Given the description of an element on the screen output the (x, y) to click on. 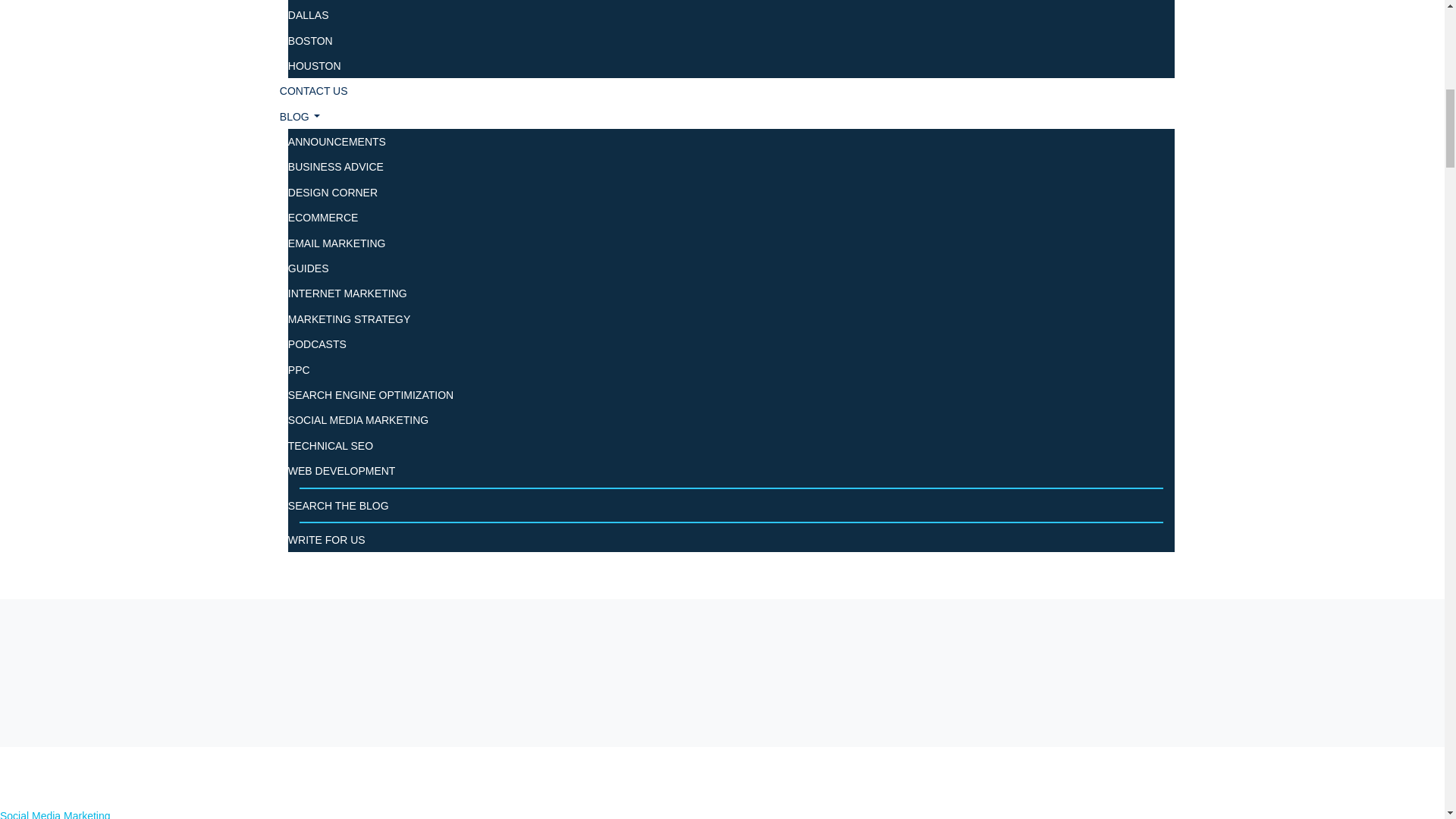
ANNOUNCEMENTS (336, 141)
BOSTON (310, 40)
HOUSTON (314, 65)
CONTACT US (313, 91)
BLOG (299, 117)
DALLAS (308, 15)
